Given the description of an element on the screen output the (x, y) to click on. 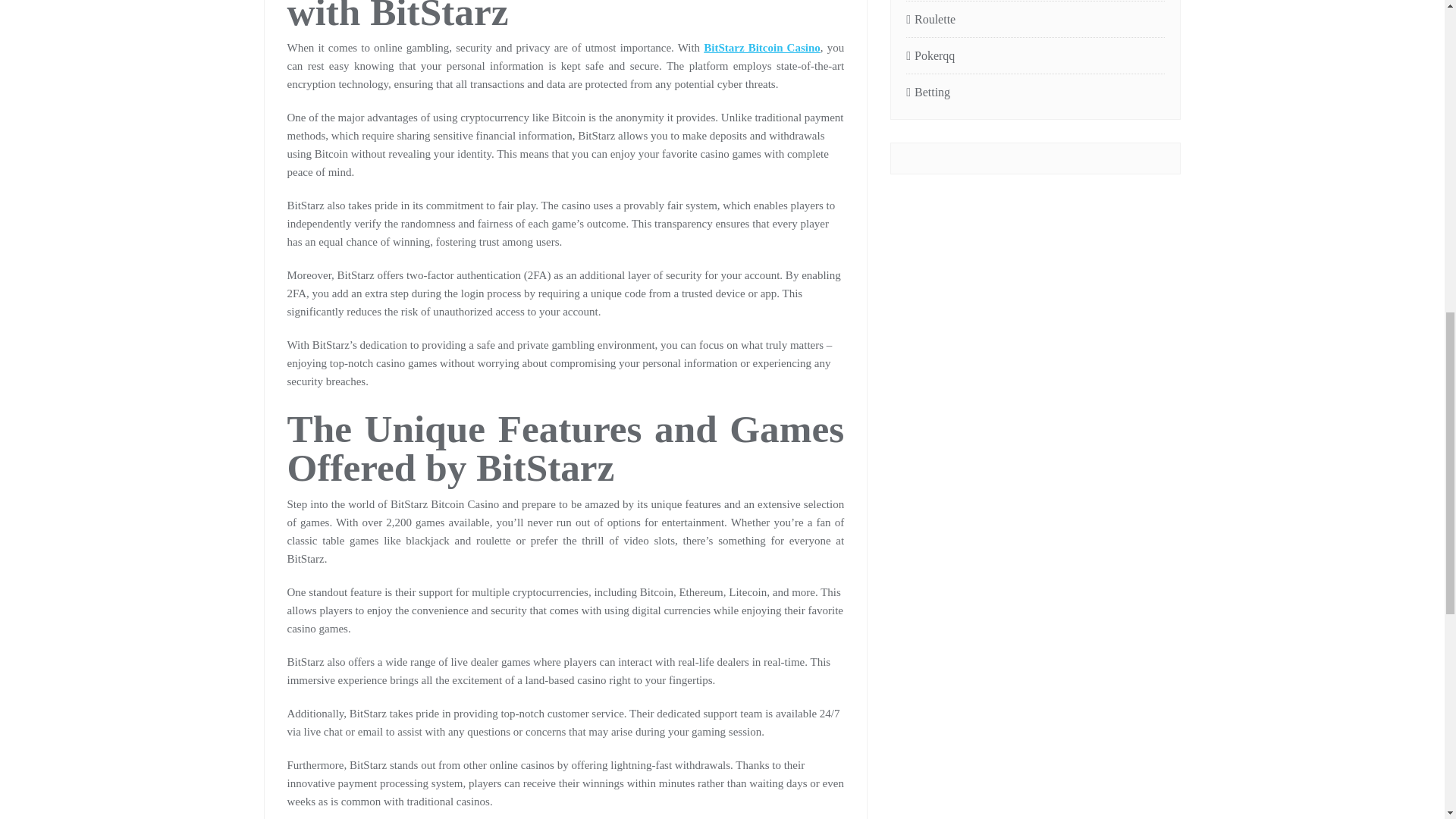
BitStarz Bitcoin Casino (762, 47)
Betting (1034, 92)
Roulette (1034, 20)
Pokerqq (1034, 56)
